Given the description of an element on the screen output the (x, y) to click on. 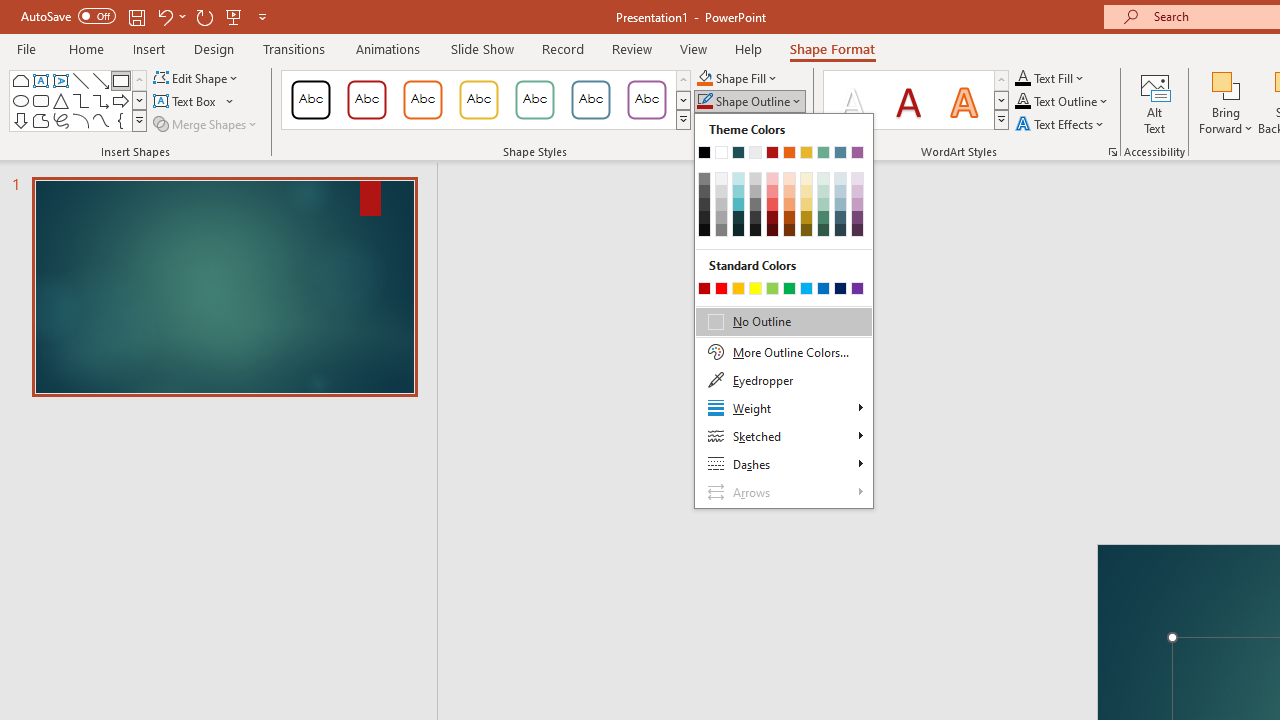
Shape Outline No Outline (704, 101)
Colored Outline - Gold, Accent 3 (478, 100)
Fill: Dark Red, Accent color 1; Shadow (908, 100)
Colored Outline - Blue-Gray, Accent 5 (591, 100)
Text Outline (1062, 101)
